Given the description of an element on the screen output the (x, y) to click on. 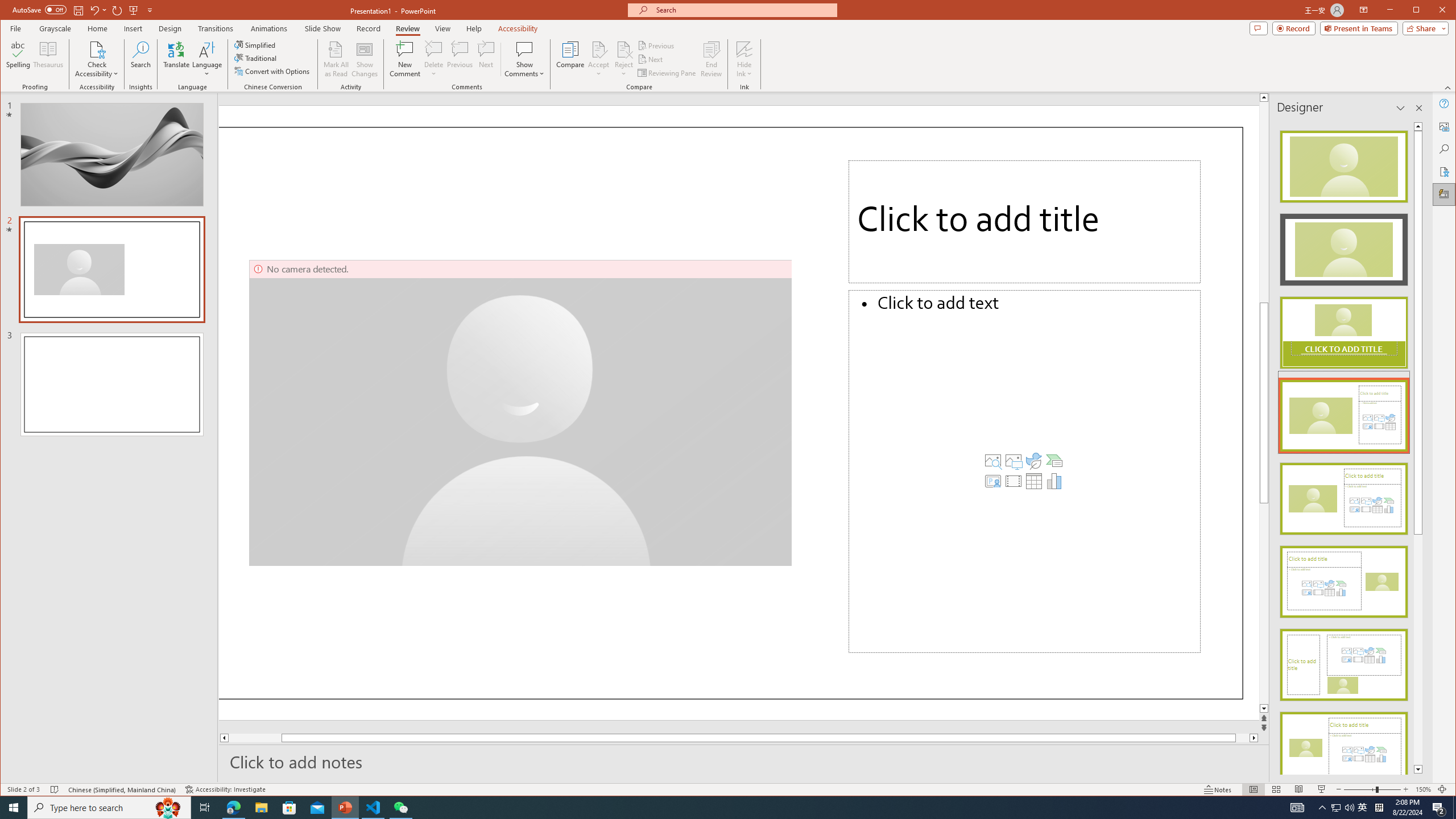
Language (207, 59)
Recommended Design: Design Idea (1343, 163)
Traditional (256, 57)
Stock Images (992, 460)
Zoom 150% (1422, 789)
Next (651, 59)
